Given the description of an element on the screen output the (x, y) to click on. 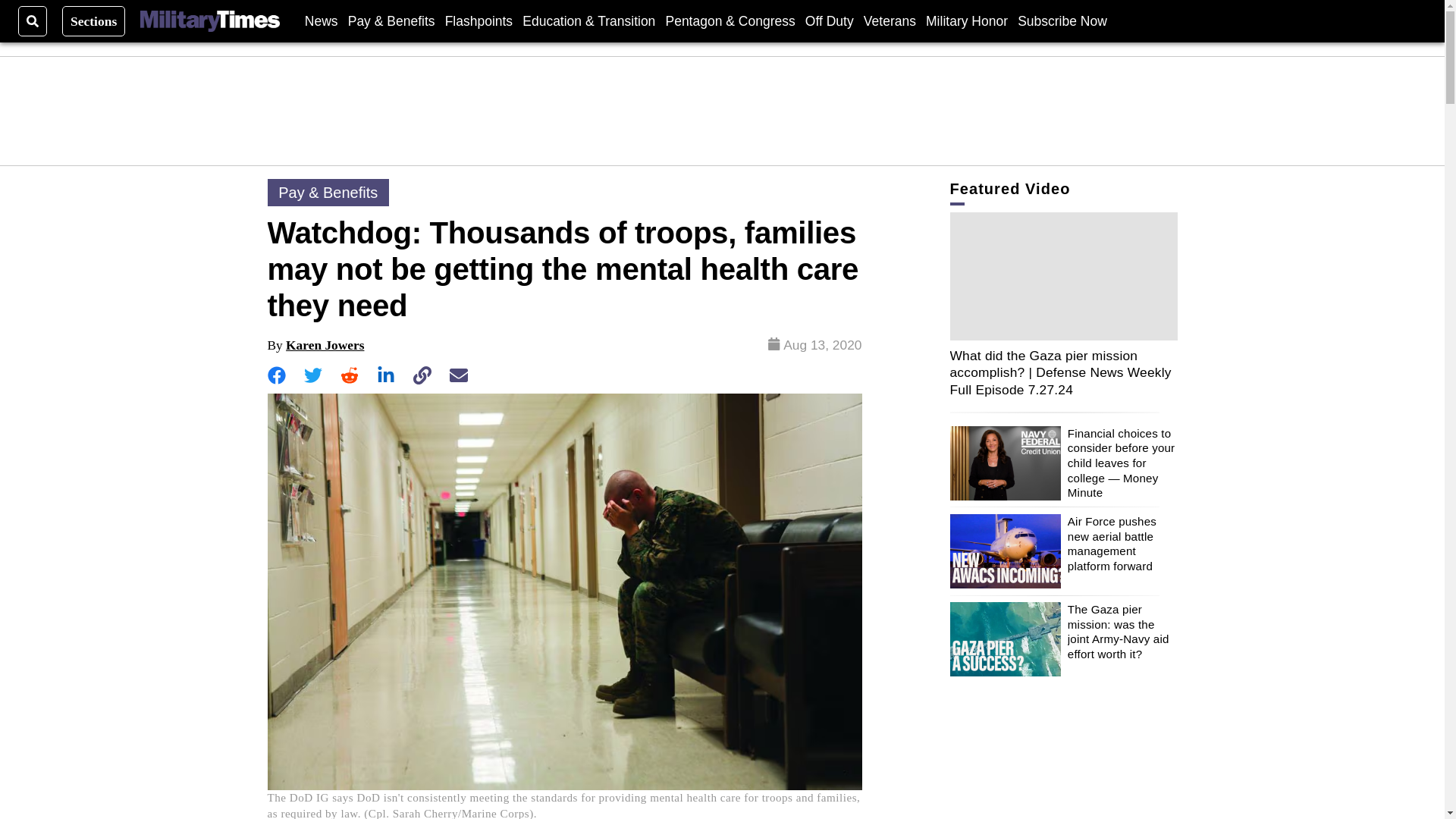
Military Times Logo (209, 20)
Veterans (889, 20)
News (320, 20)
Sections (93, 20)
Flashpoints (479, 20)
Off Duty (829, 20)
Military Honor (966, 20)
